Given the description of an element on the screen output the (x, y) to click on. 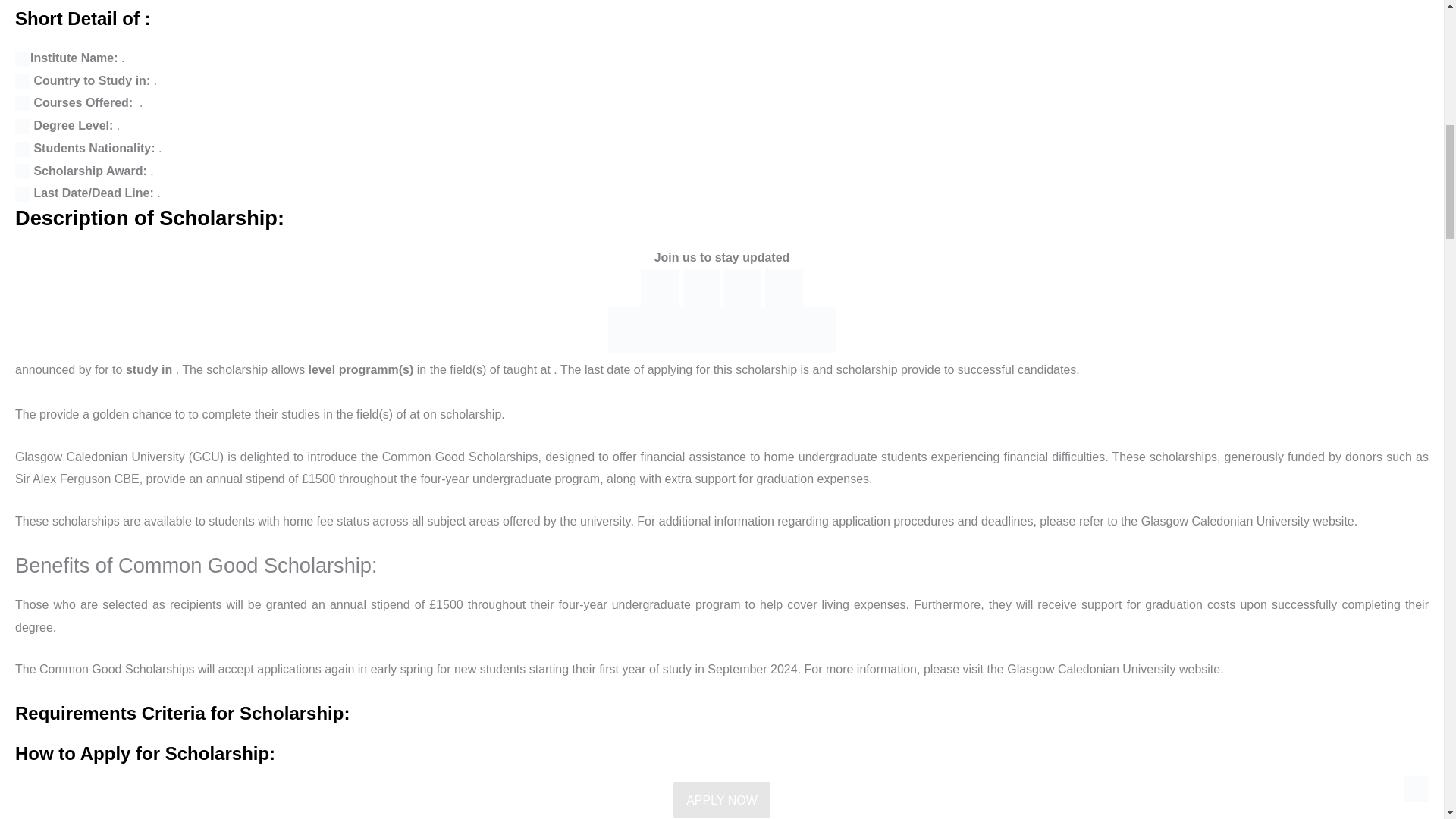
scholarhunter facebook (659, 286)
Follow us on google for latest scholarships (721, 329)
Scholarhunter telegram (784, 286)
Scholarhunter twiter (742, 286)
Scholarhunter Whatsapp (701, 286)
